Given the description of an element on the screen output the (x, y) to click on. 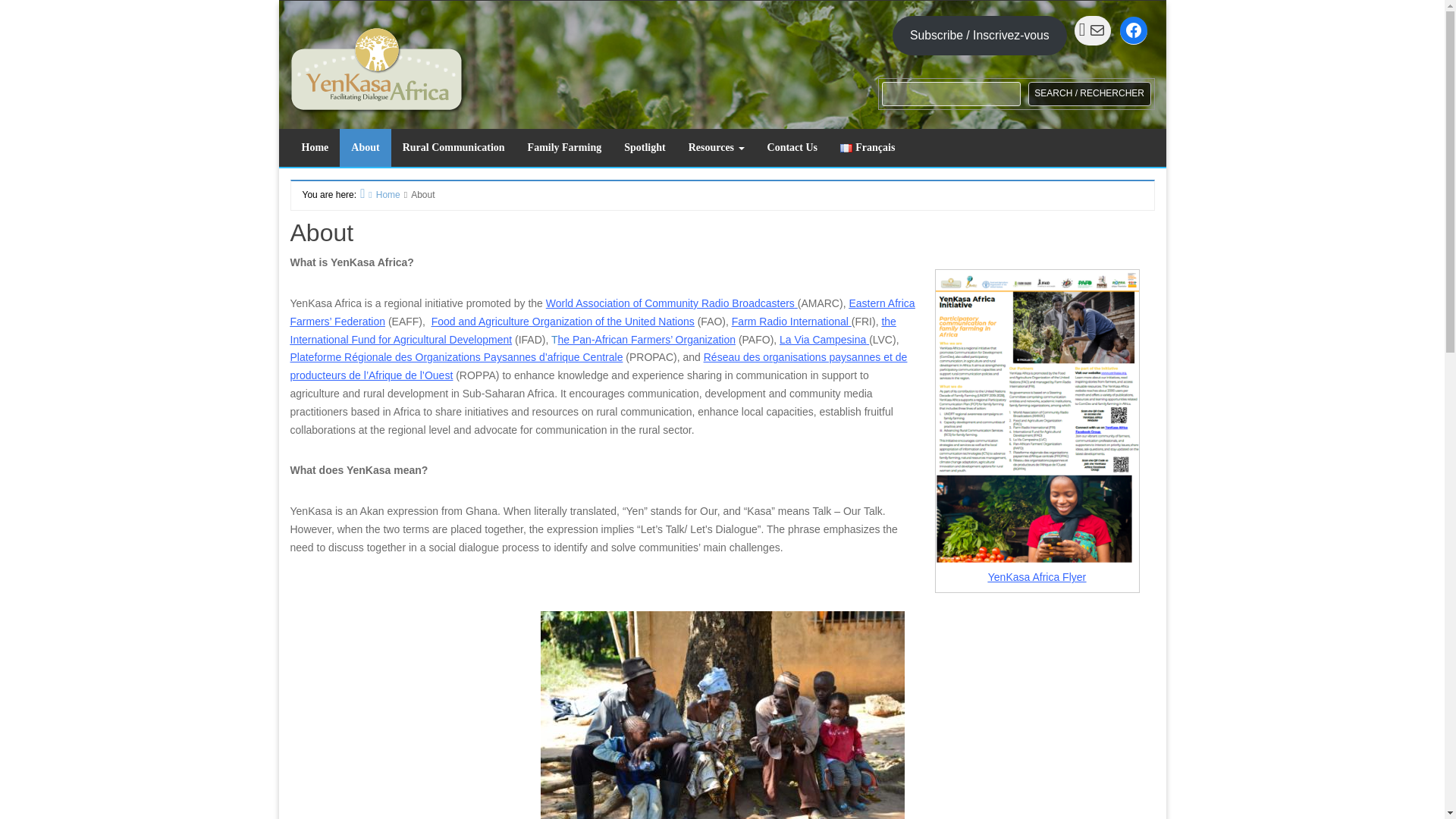
Contact Us (792, 147)
Food and Agriculture Organization of the United Nations (562, 321)
Home (314, 147)
La Via Campesina (822, 339)
Rural Communication (453, 147)
Resources (716, 147)
World Association of Community Radio Broadcasters (670, 303)
Family Farming (564, 147)
Facebook (1133, 30)
Spotlight (644, 147)
About (364, 147)
Farm Radio International (790, 321)
Home (314, 147)
About (364, 147)
Rural Communication (453, 147)
